Given the description of an element on the screen output the (x, y) to click on. 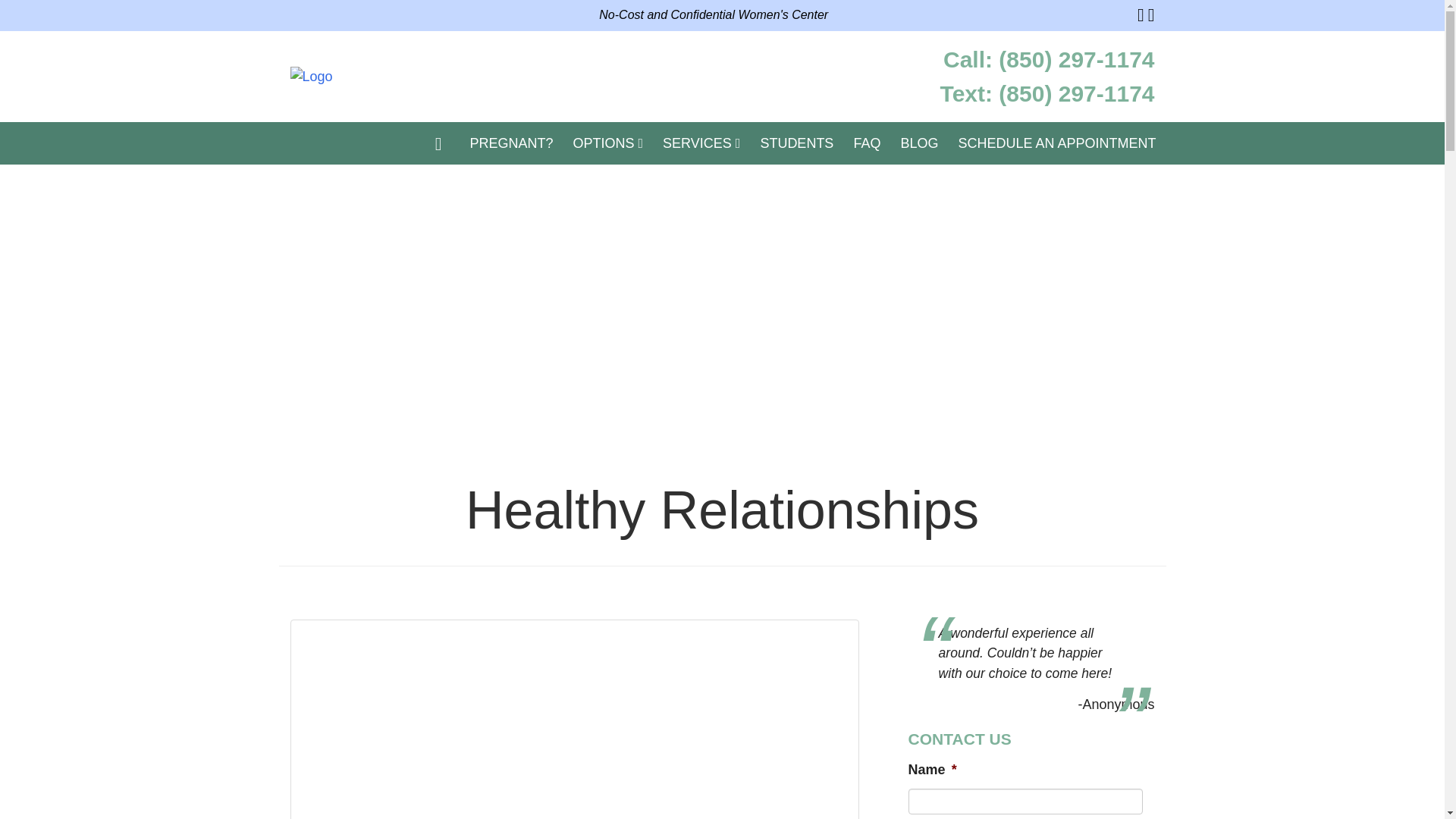
FAQ (866, 143)
Services (574, 719)
Schedule an Appointment (1056, 143)
SCHEDULE AN APPOINTMENT (1056, 143)
Blog (918, 143)
HOME (438, 143)
Options (607, 143)
STUDENTS (796, 143)
OPTIONS (607, 143)
SERVICES (700, 143)
